Given the description of an element on the screen output the (x, y) to click on. 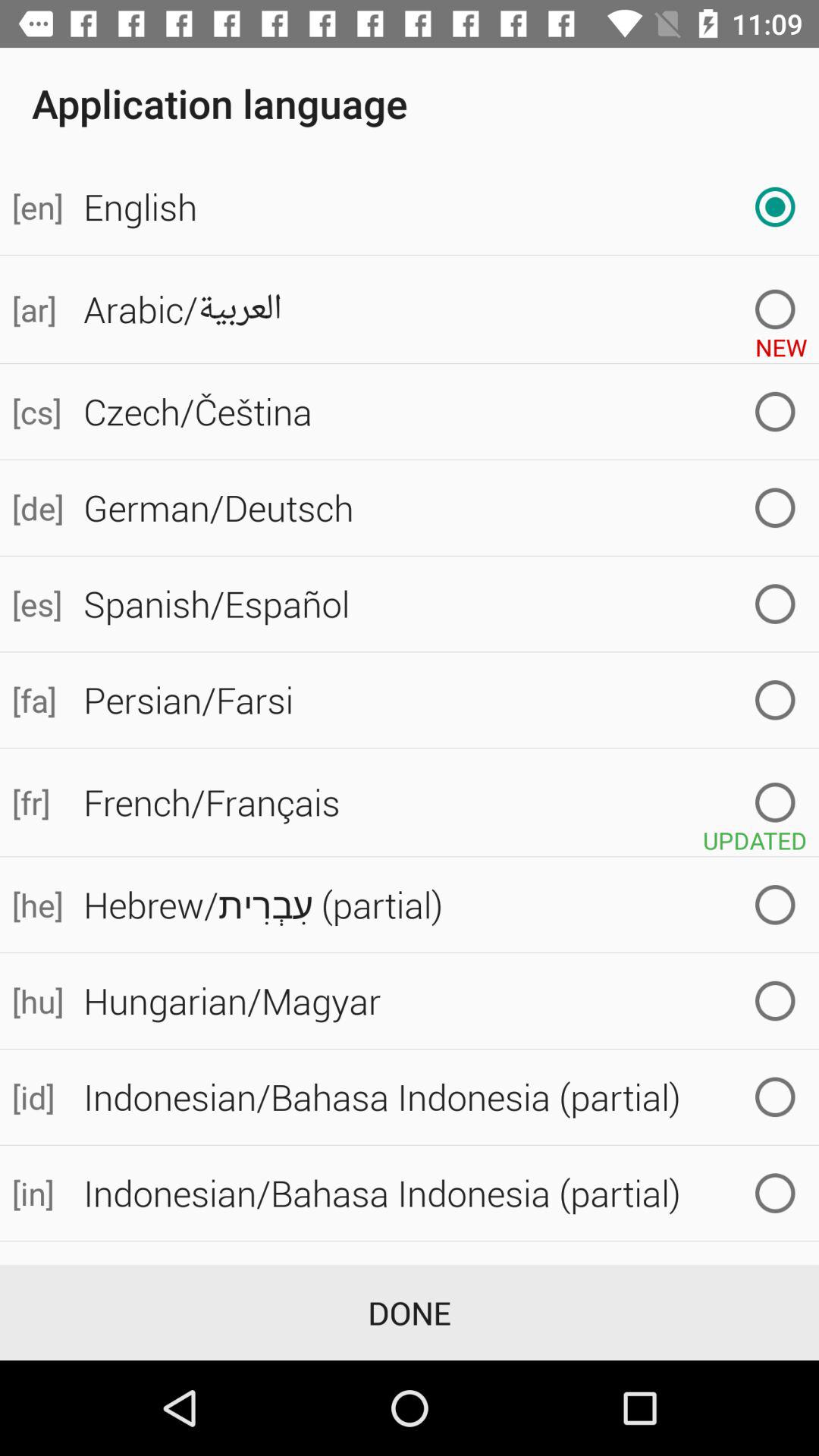
turn on item next to the persian/farsi item (35, 699)
